Given the description of an element on the screen output the (x, y) to click on. 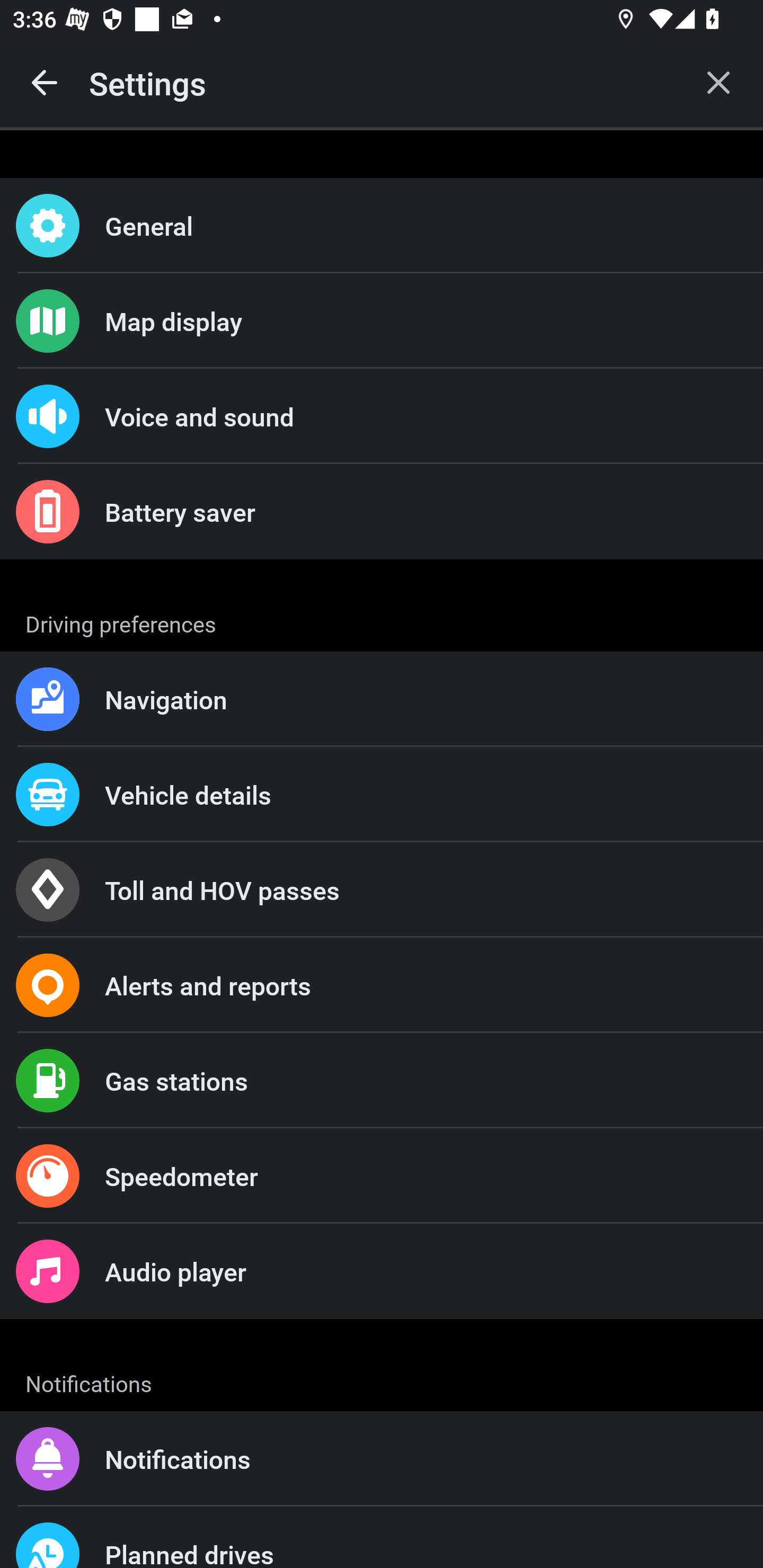
General (381, 225)
Map display (381, 320)
Voice and sound (381, 416)
Battery saver (381, 511)
ACTION_CELL_ICON Settings ACTION_CELL_TEXT (381, 620)
Vehicle details (381, 794)
Toll and HOV passes (381, 889)
Alerts and reports (381, 985)
Gas stations (381, 1080)
Speedometer (381, 1175)
Audio player (381, 1270)
Home 255 W 94th St, Manhattan (381, 1368)
Notifications (381, 1458)
Planned drives (381, 1537)
